Given the description of an element on the screen output the (x, y) to click on. 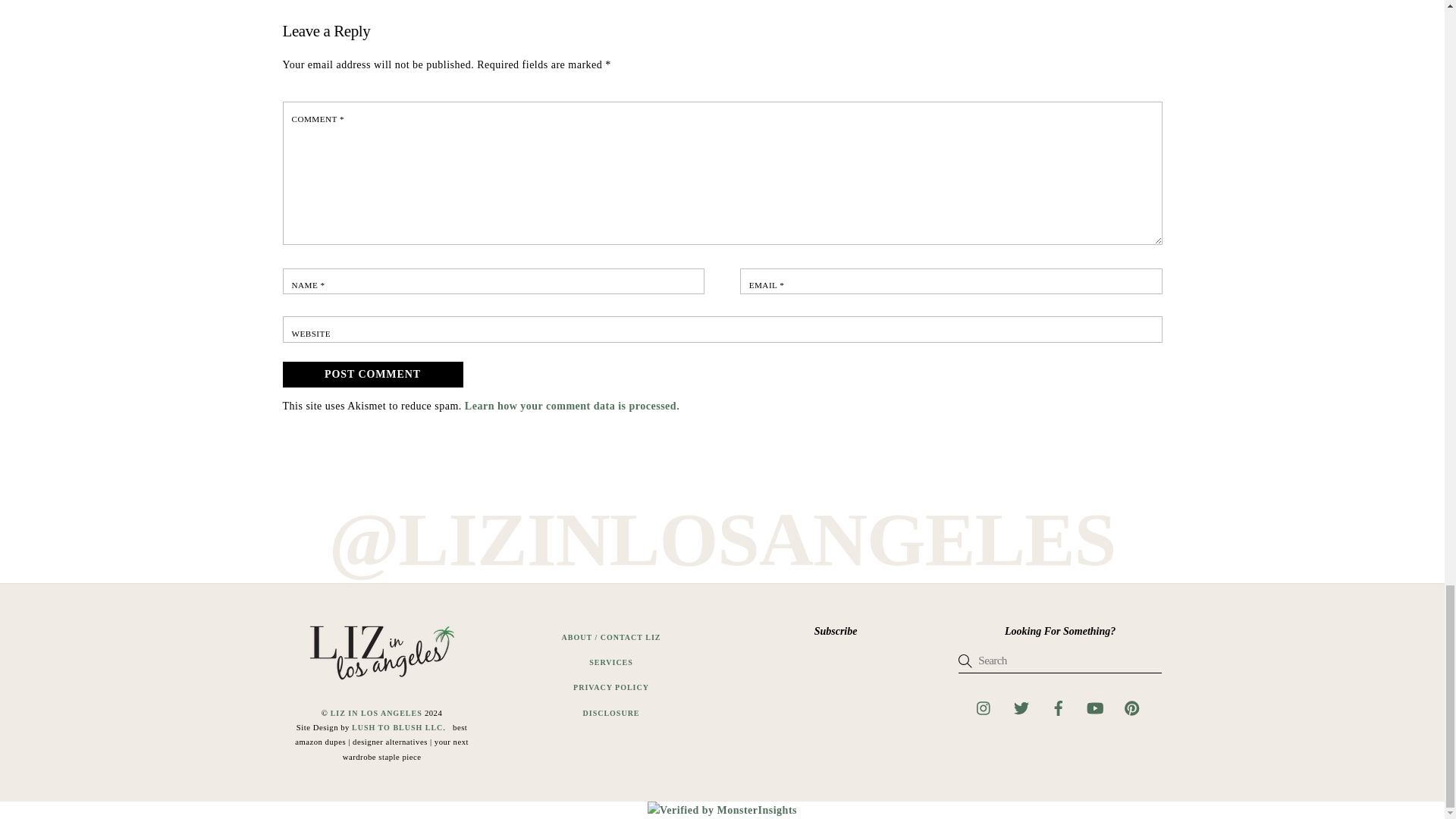
Liz in Los Angeles (381, 678)
Post Comment (372, 374)
